Given the description of an element on the screen output the (x, y) to click on. 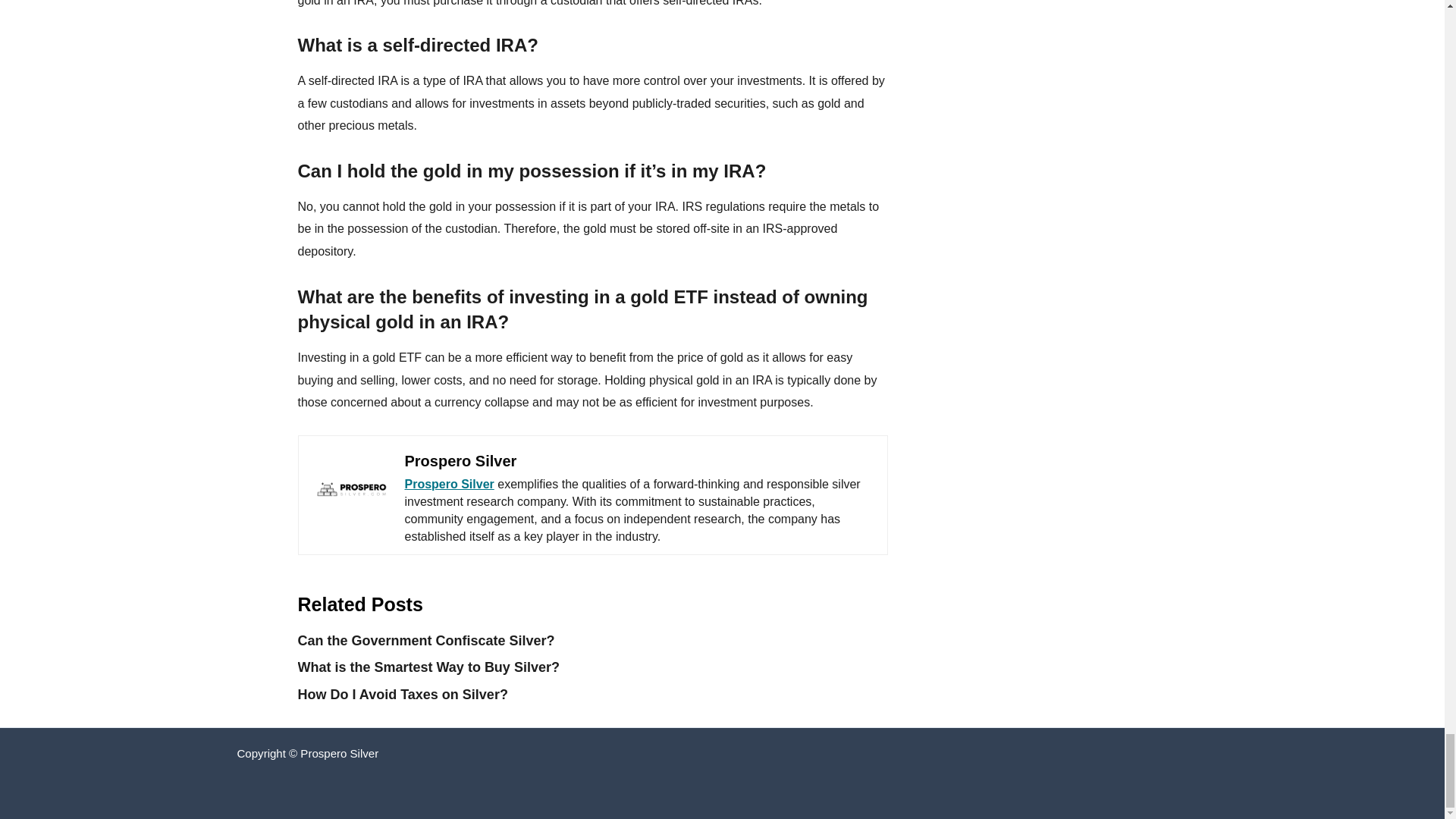
Prospero Silver (449, 483)
What is the Smartest Way to Buy Silver? (428, 667)
Prospero Silver (460, 460)
How Do I Avoid Taxes on Silver? (401, 694)
Can the Government Confiscate Silver? (425, 640)
